Given the description of an element on the screen output the (x, y) to click on. 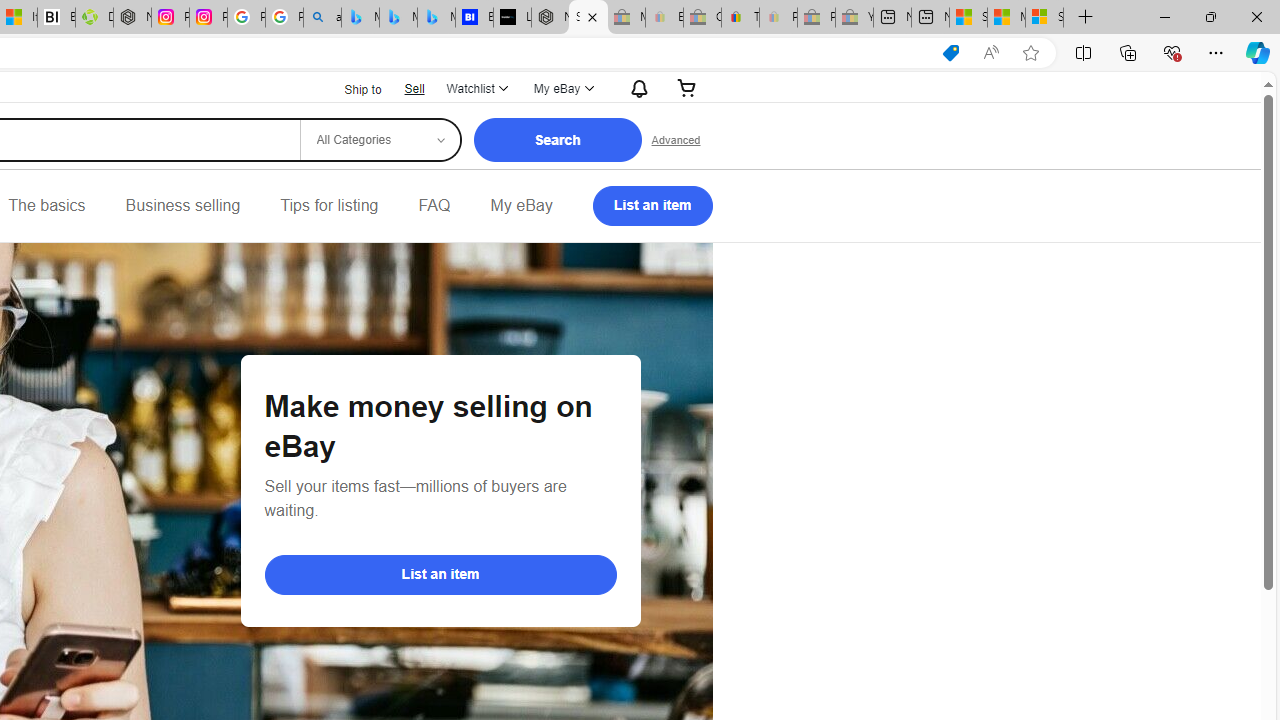
WatchlistExpand Watch List (476, 88)
Expand Cart (687, 88)
